Given the description of an element on the screen output the (x, y) to click on. 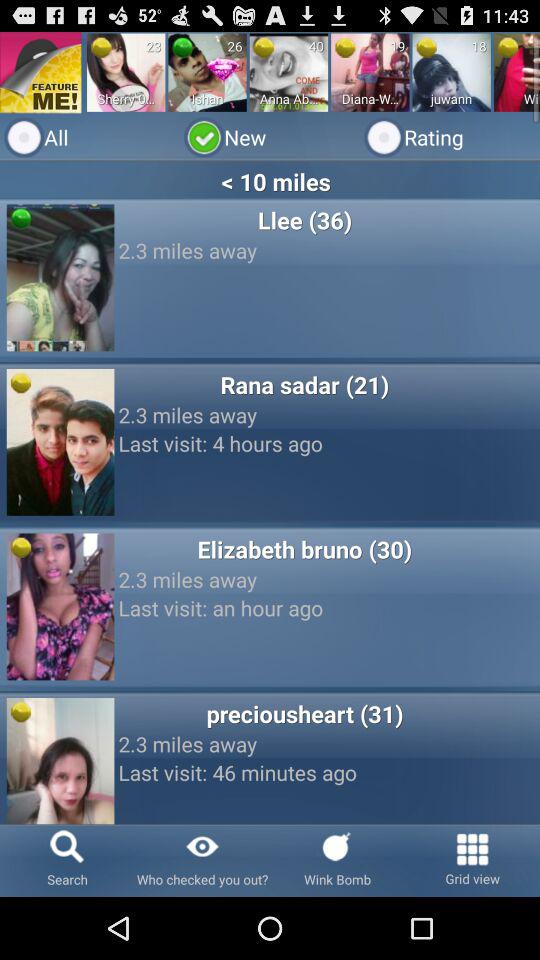
turn on the icon above all radio button (207, 72)
